Given the description of an element on the screen output the (x, y) to click on. 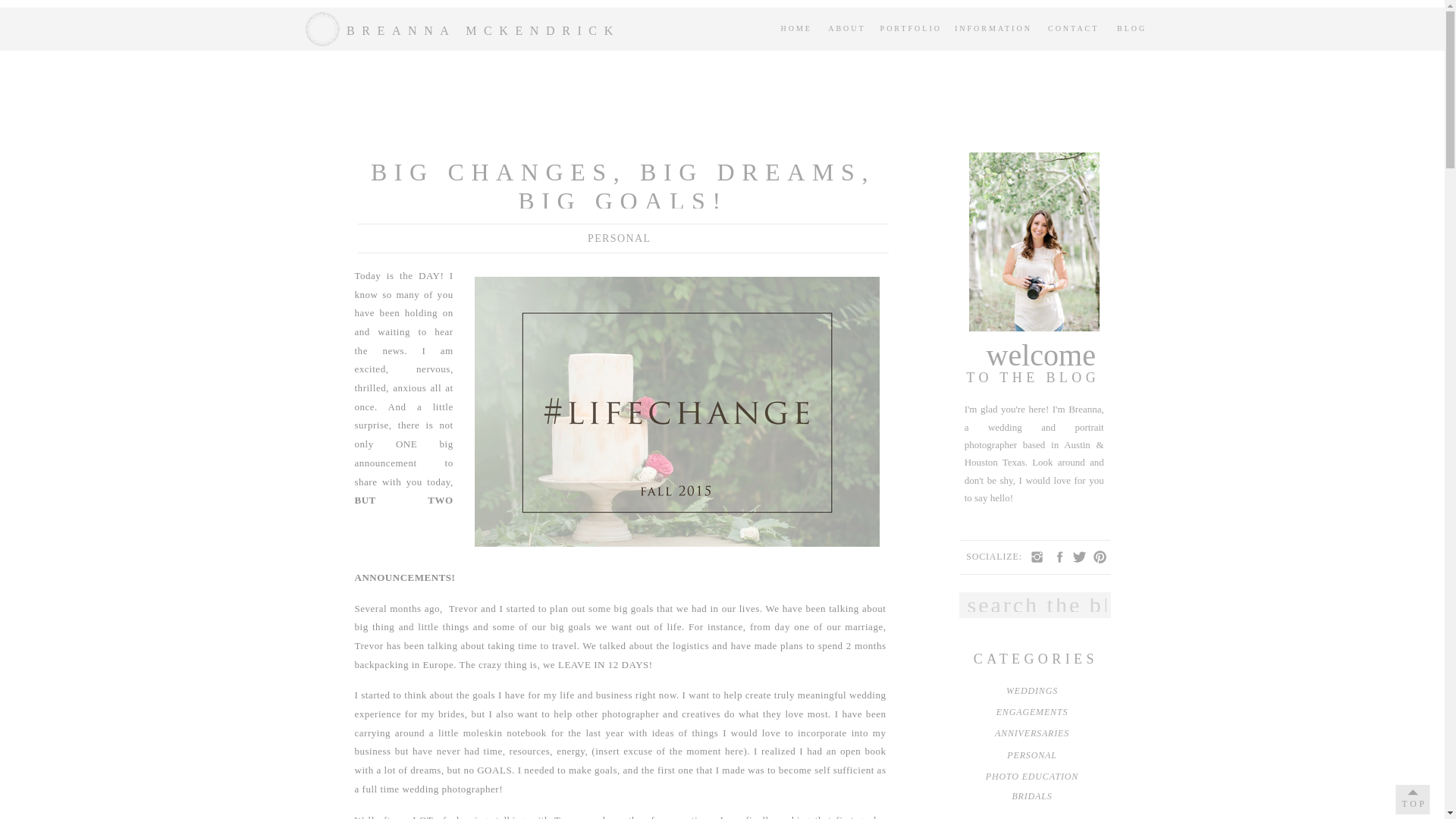
ANNIVERSARIES (1031, 737)
PERSONAL (1031, 759)
BLOG (1132, 29)
PHOTO EDUCATION (1031, 780)
HOME (792, 29)
BREANNA MCKENDRICK (486, 29)
INFORMATION (992, 29)
ENGAGEMENTS (1031, 715)
 ABOUT  (845, 29)
CONTACT (1075, 29)
